Given the description of an element on the screen output the (x, y) to click on. 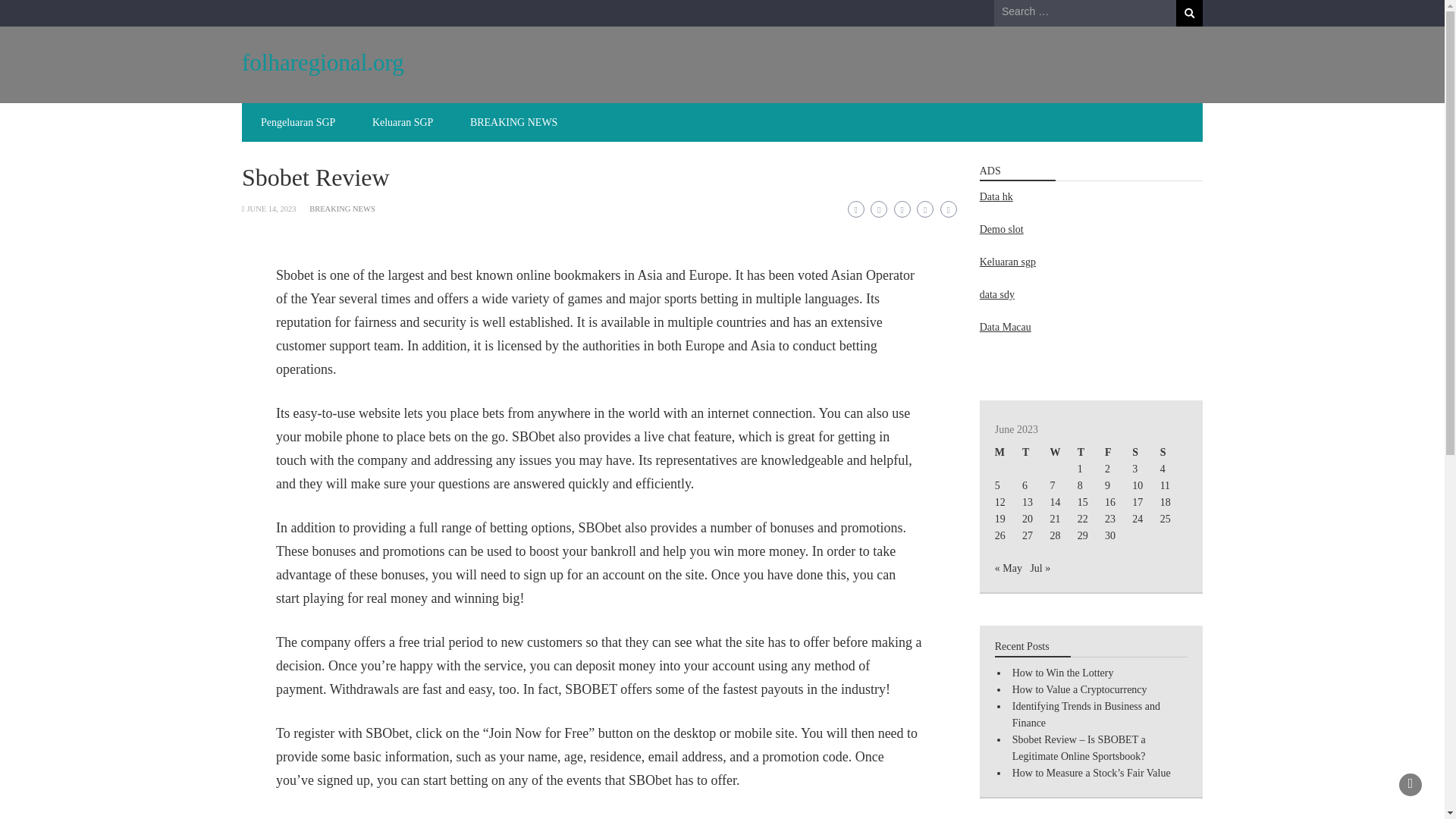
Search (1189, 13)
Pengeluaran SGP (298, 122)
Sunday (1174, 452)
Thursday (1091, 452)
Wednesday (1063, 452)
Keluaran SGP (402, 122)
JUNE 14, 2023 (270, 208)
Friday (1118, 452)
Demo slot (1001, 229)
12 (1000, 501)
BREAKING NEWS (513, 122)
Search (1189, 13)
Data Macau (1004, 326)
Saturday (1145, 452)
Tuesday (1035, 452)
